Given the description of an element on the screen output the (x, y) to click on. 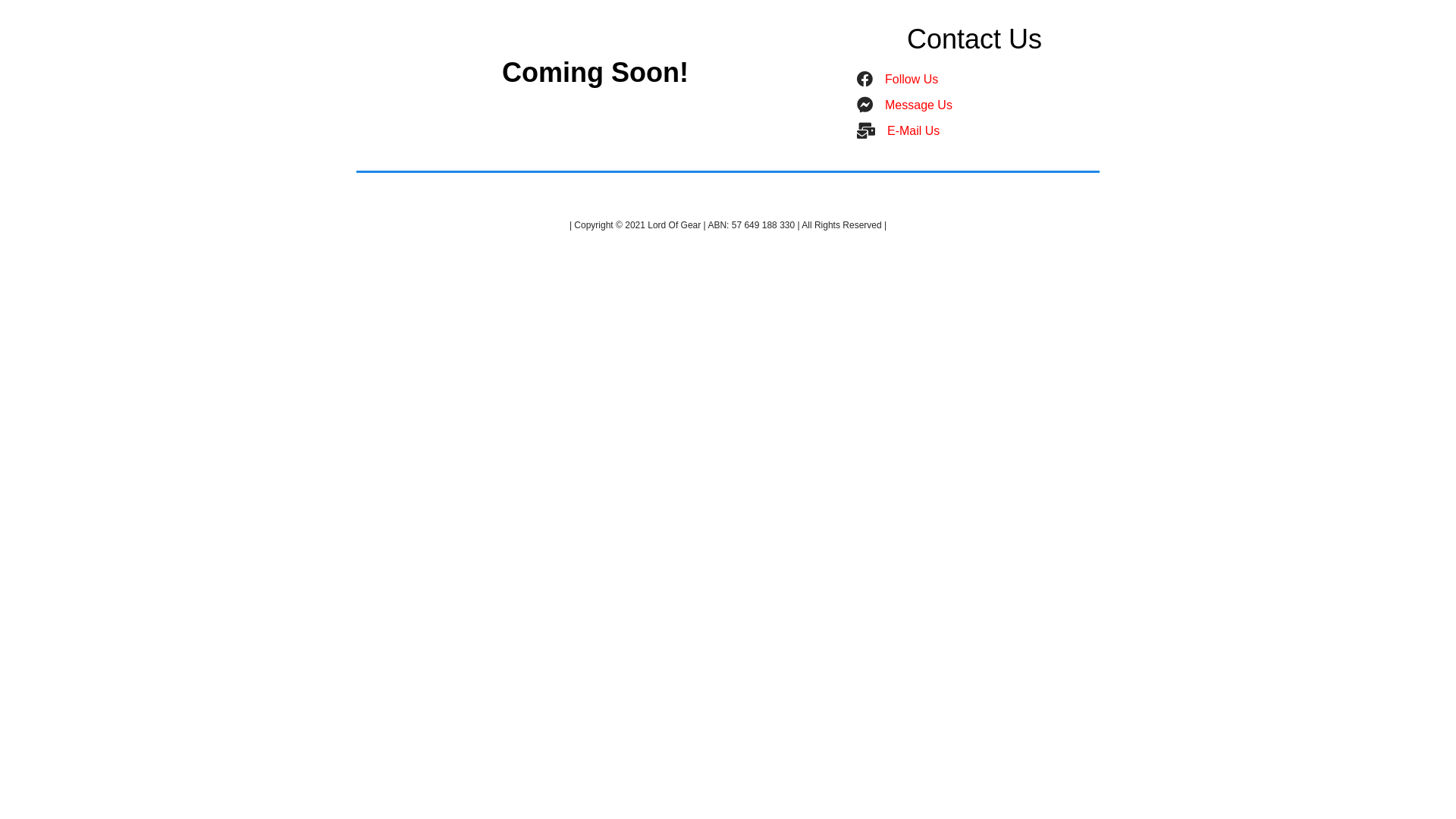
Follow Us Element type: text (911, 78)
E-Mail Us Element type: text (913, 130)
Message Us Element type: text (918, 104)
